Given the description of an element on the screen output the (x, y) to click on. 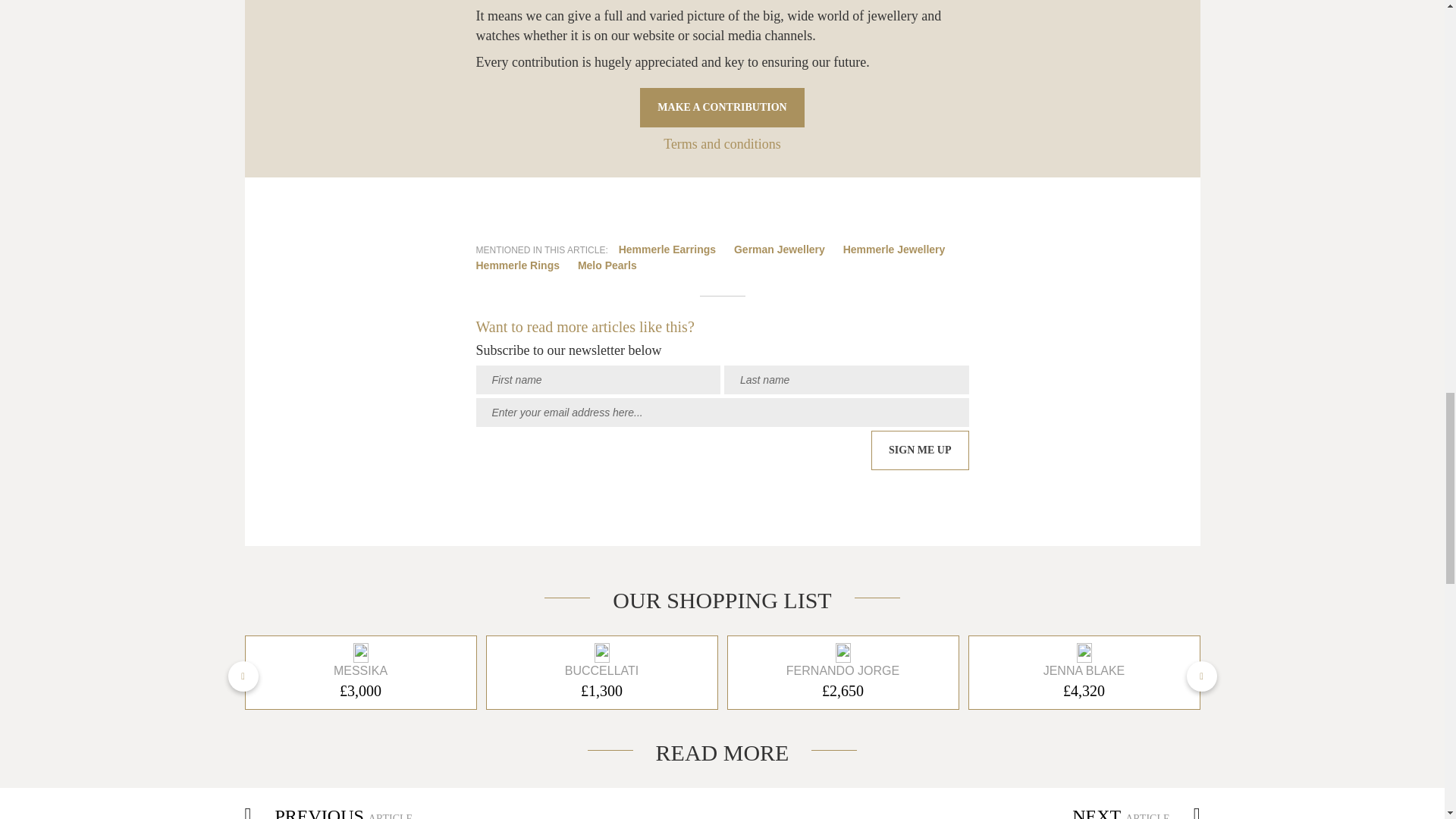
Make a contribution (721, 107)
